Given the description of an element on the screen output the (x, y) to click on. 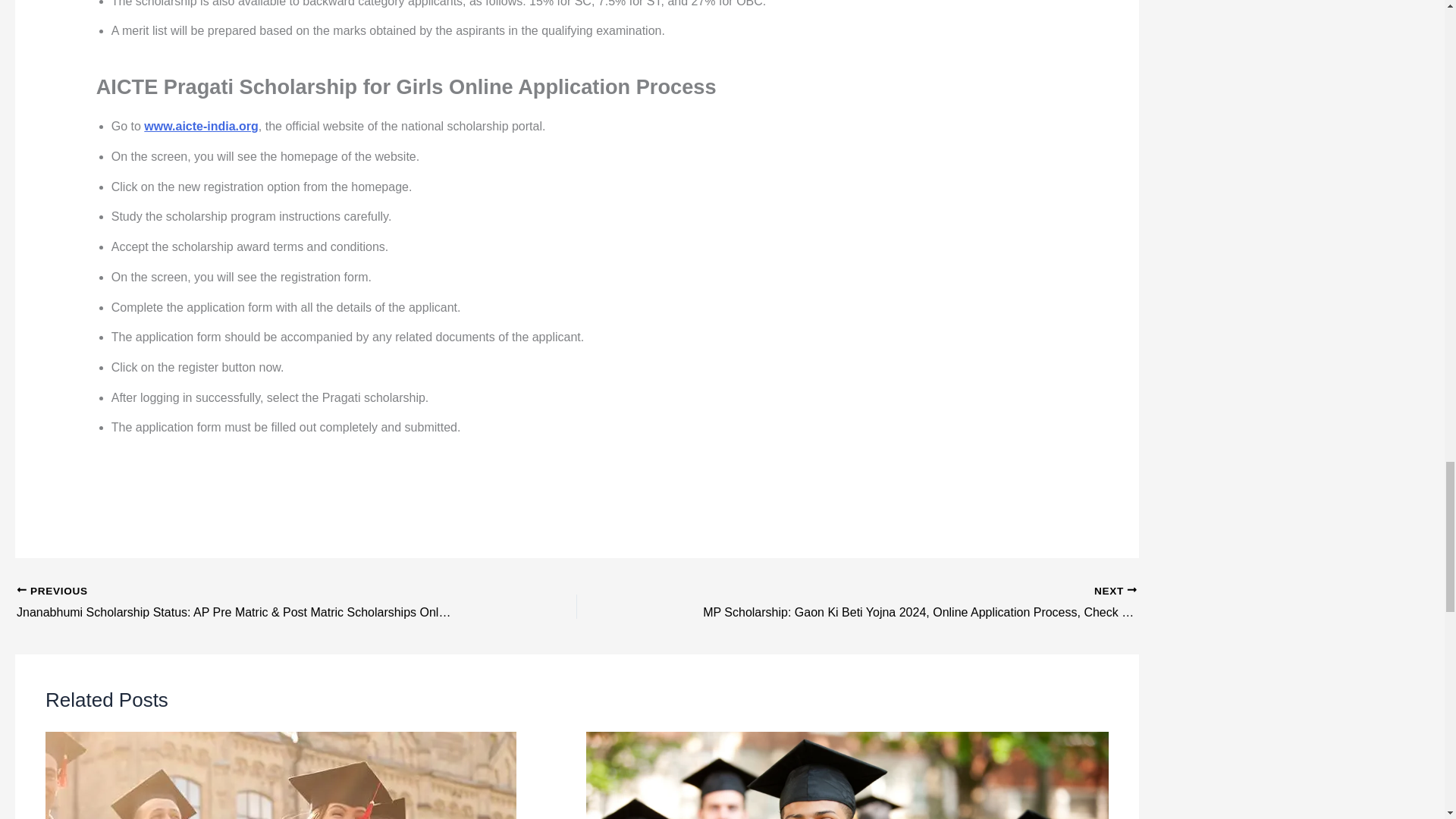
www.aicte-india.org (201, 125)
